Given the description of an element on the screen output the (x, y) to click on. 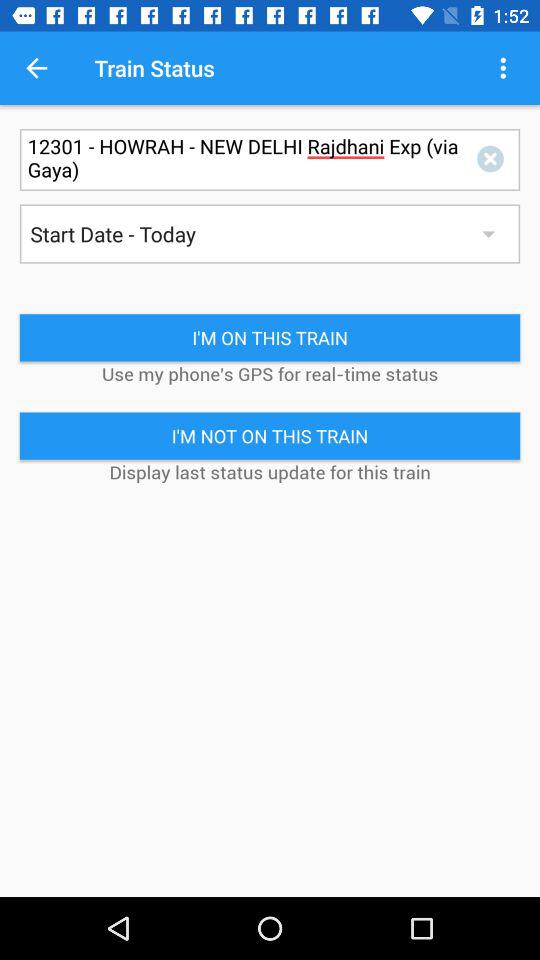
x (494, 159)
